Given the description of an element on the screen output the (x, y) to click on. 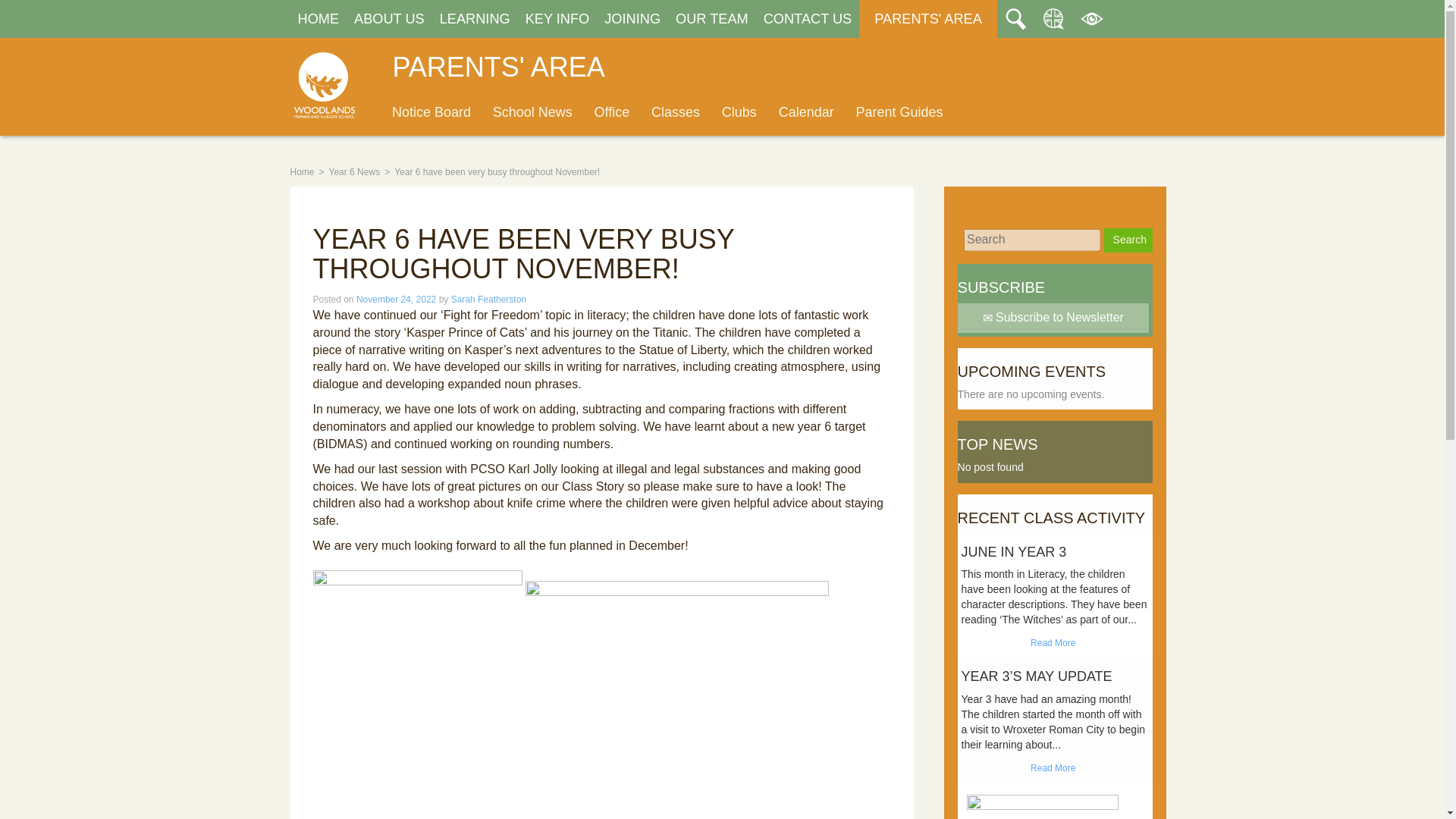
November 24, 2022 (395, 299)
Skip to main content (327, 7)
Clubs (738, 112)
Accessibility (1091, 18)
Classes (675, 112)
JOINING (632, 18)
ABOUT US (389, 18)
CONTACT US (807, 18)
PARENTS' AREA (928, 18)
Home (301, 172)
